Given the description of an element on the screen output the (x, y) to click on. 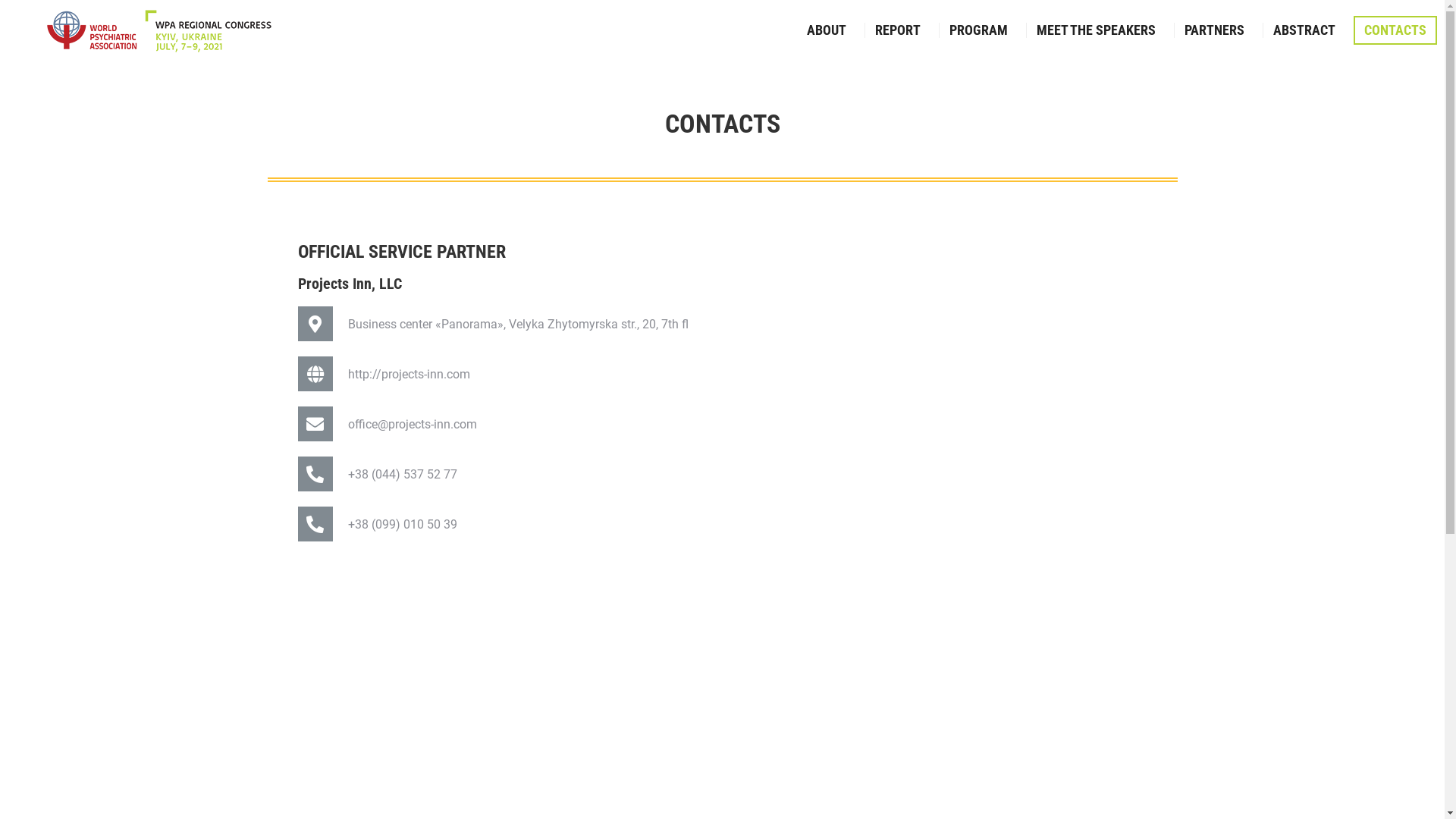
MEET THE SPEAKERS Element type: text (1096, 29)
CONTACTS Element type: text (1395, 29)
PROGRAM Element type: text (978, 29)
PARTNERS Element type: text (1214, 29)
ABSTRACT Element type: text (1304, 29)
ABOUT Element type: text (826, 29)
REPORT Element type: text (897, 29)
